Given the description of an element on the screen output the (x, y) to click on. 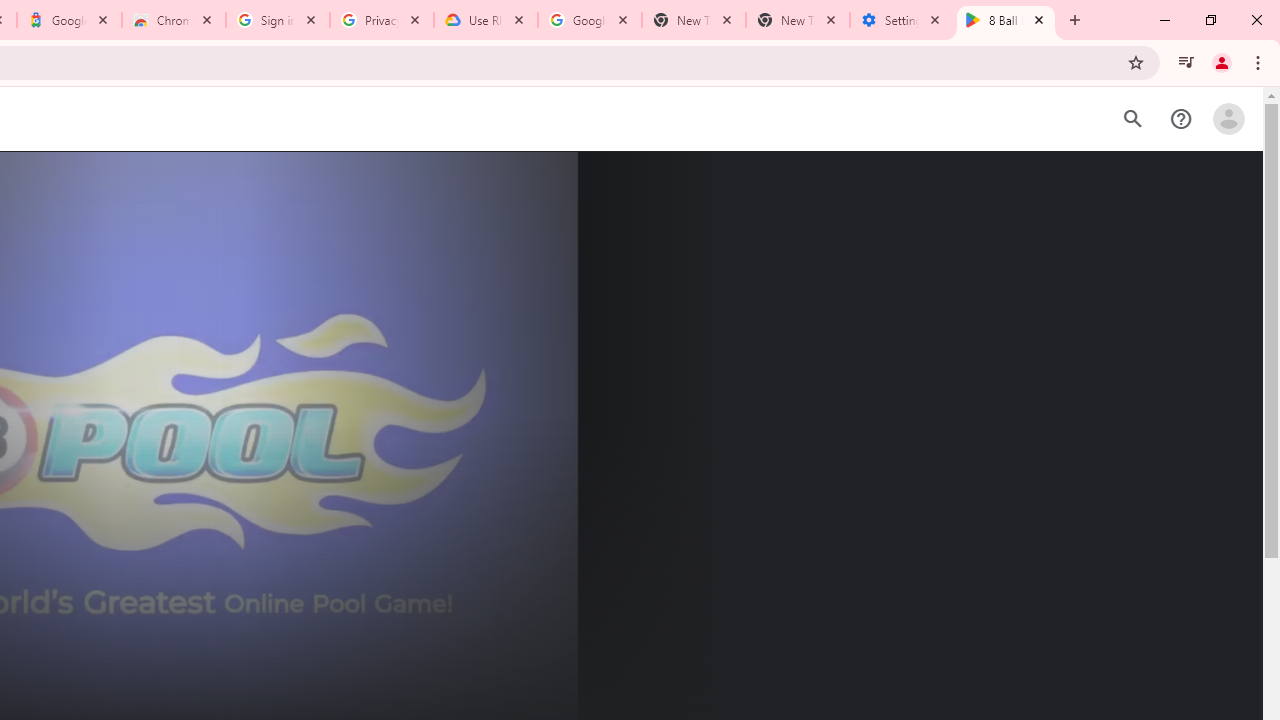
Search (1132, 119)
Settings - System (901, 20)
Open account menu (1228, 119)
